Given the description of an element on the screen output the (x, y) to click on. 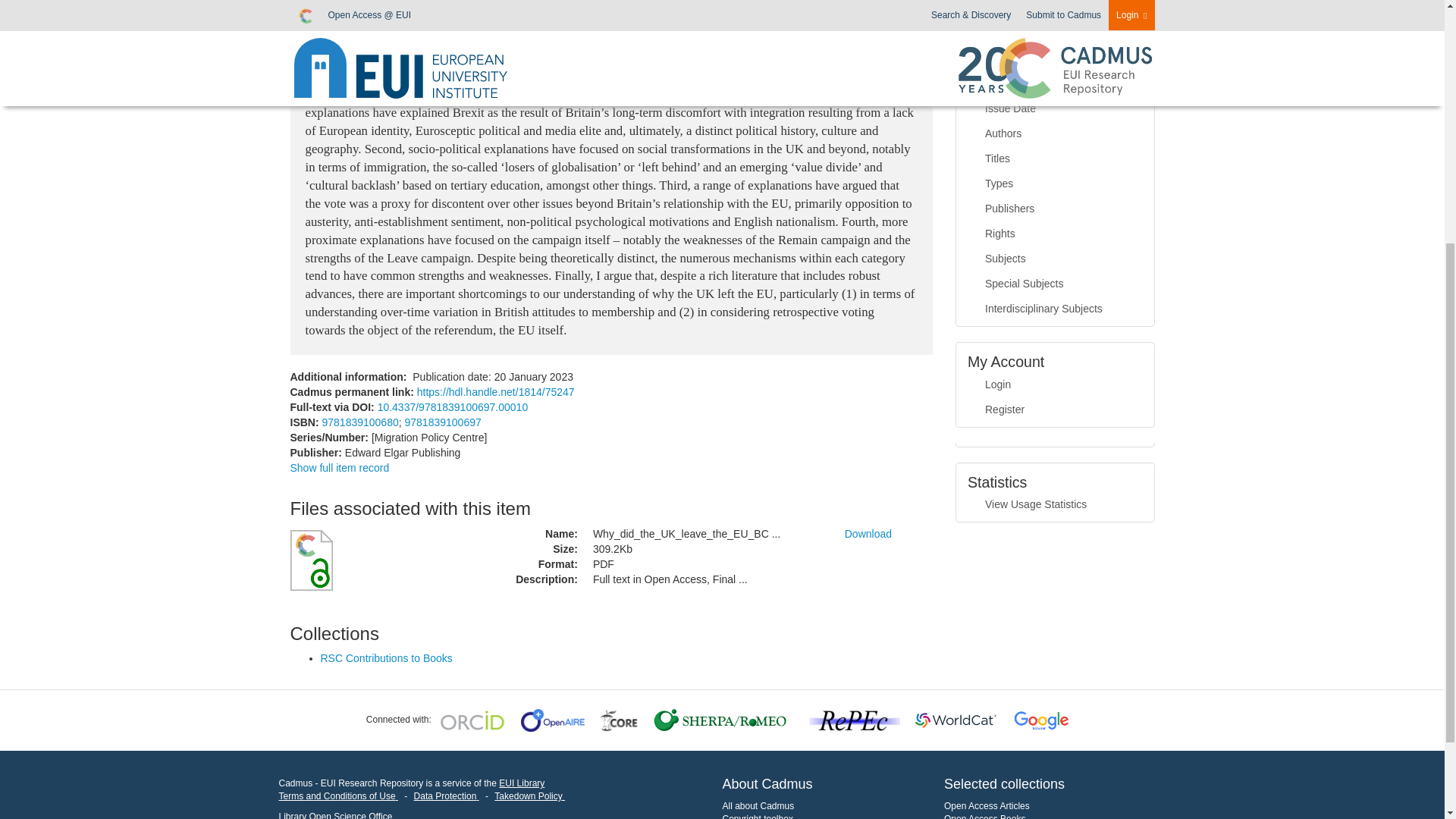
Show full item record (338, 467)
Disclaimer and Takedowm Policy (529, 796)
Download (867, 533)
9781839100680 (359, 422)
RSC Contributions to Books (385, 657)
Go to Disclaimer (338, 796)
Subjects (1055, 11)
Full text in Open Access, Final Accepted version (707, 580)
9781839100697 (442, 422)
